Given the description of an element on the screen output the (x, y) to click on. 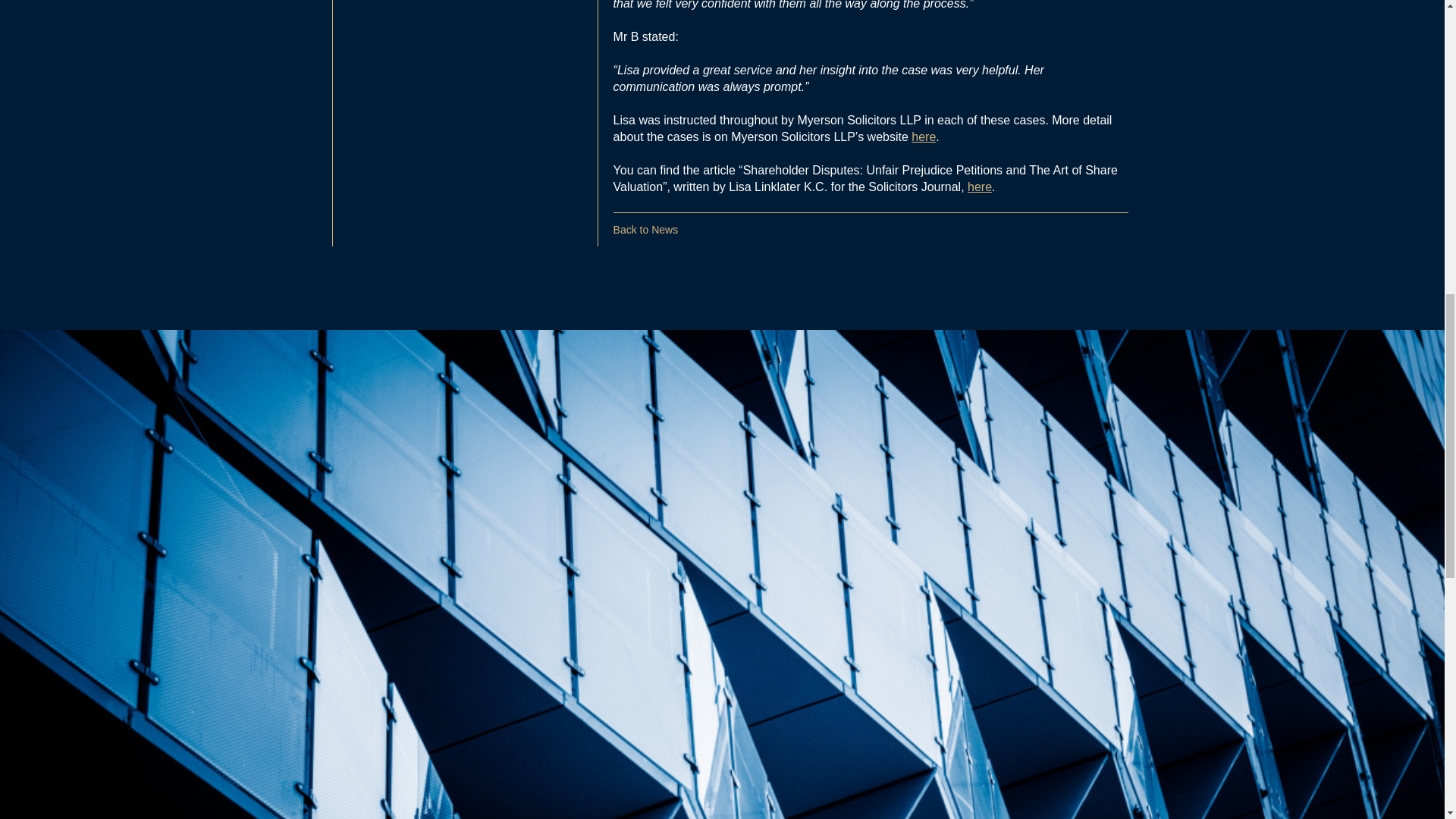
Back to News (645, 229)
here (979, 186)
here (923, 136)
